Given the description of an element on the screen output the (x, y) to click on. 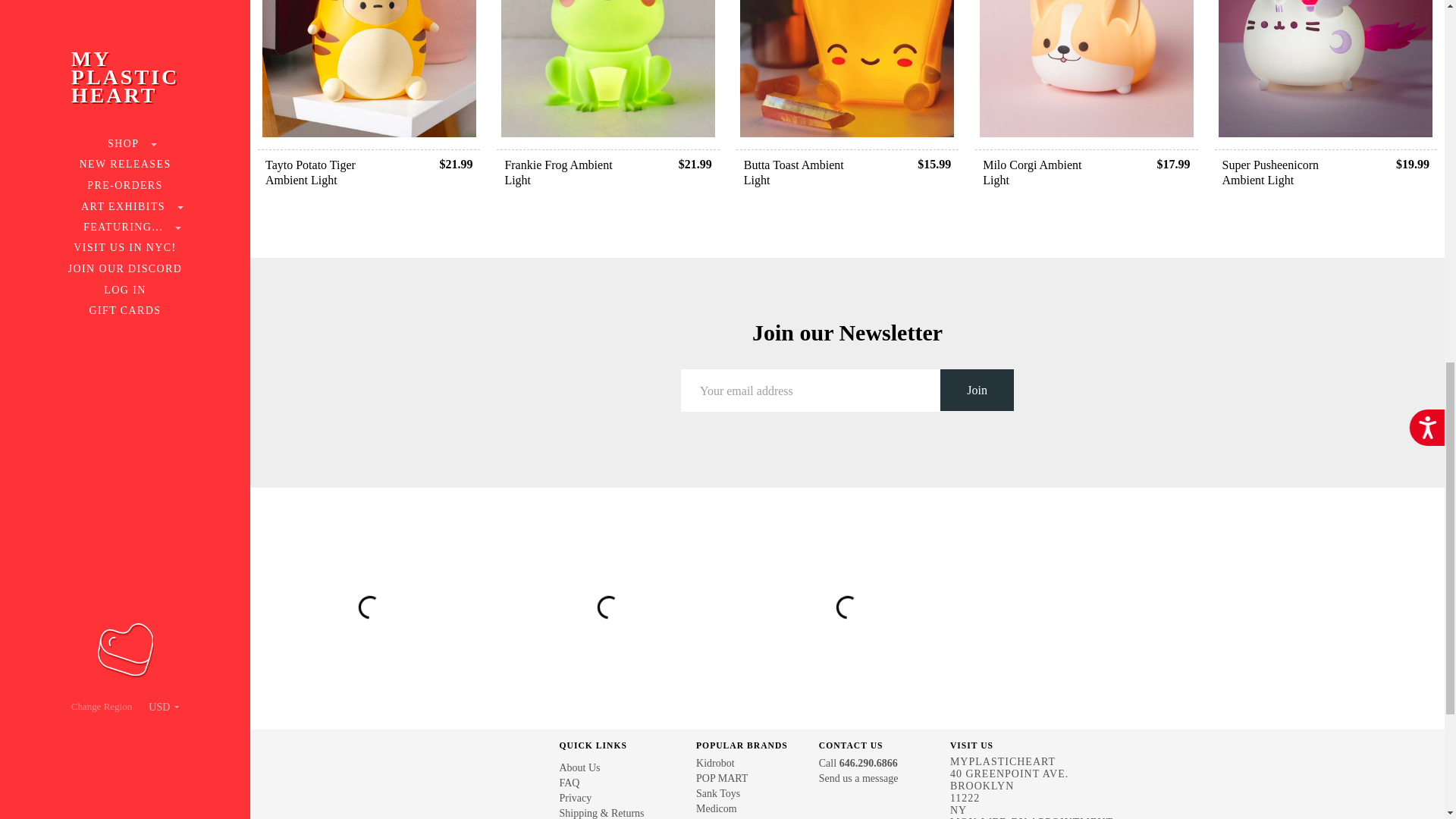
Join (976, 390)
